Given the description of an element on the screen output the (x, y) to click on. 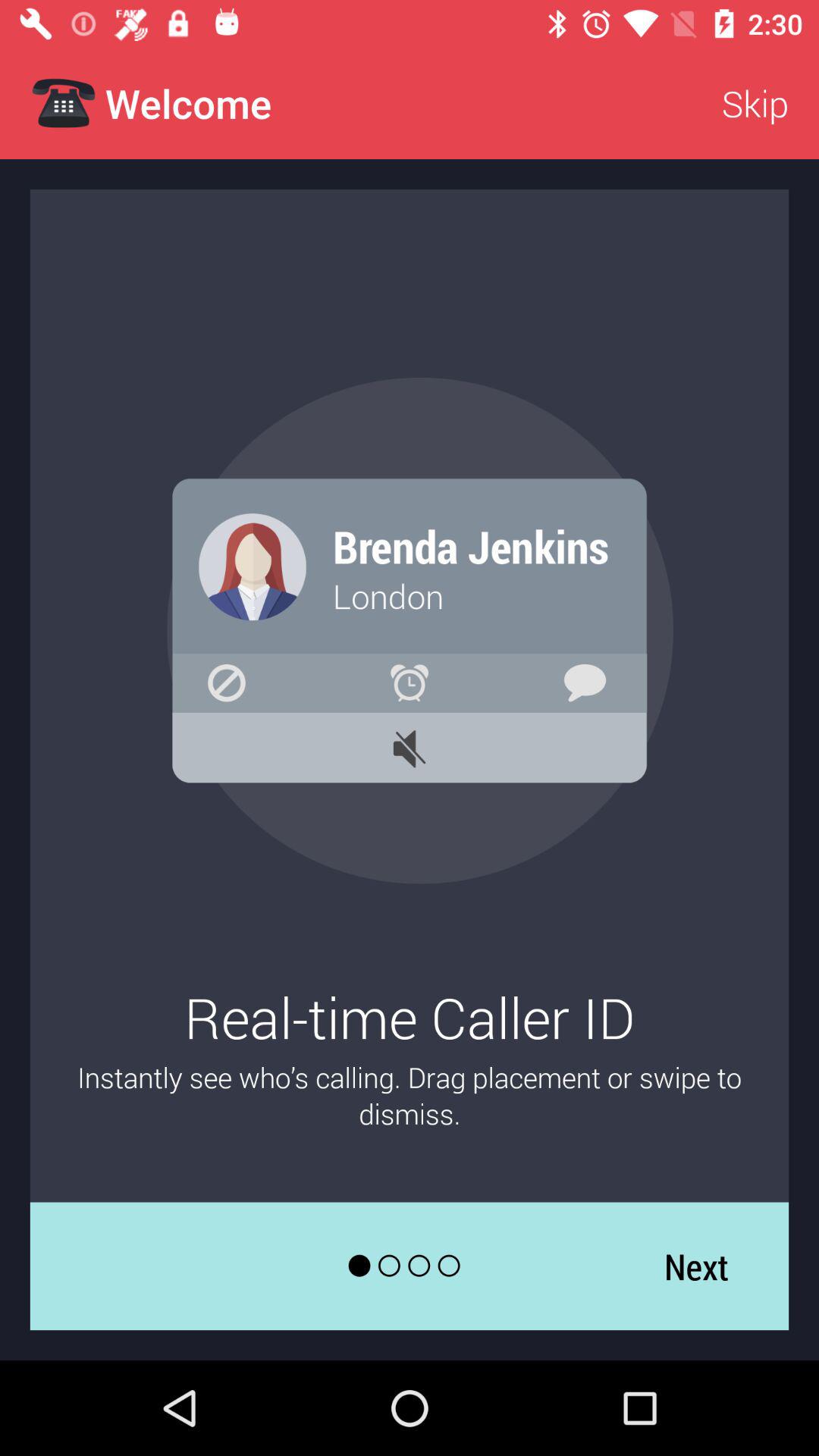
choose the icon below the instantly see who (696, 1266)
